Given the description of an element on the screen output the (x, y) to click on. 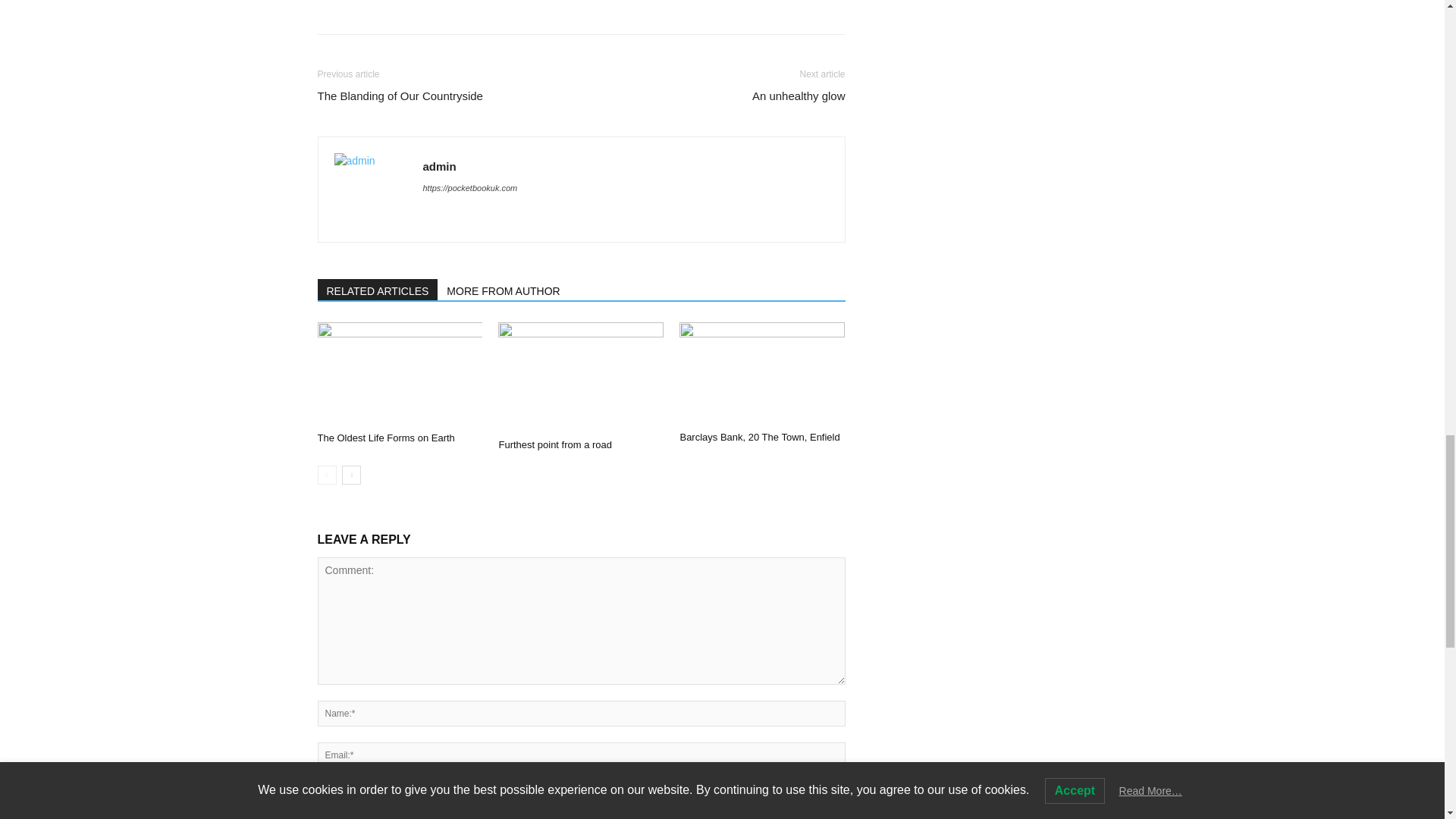
The Oldest Life Forms on Earth (399, 373)
